Given the description of an element on the screen output the (x, y) to click on. 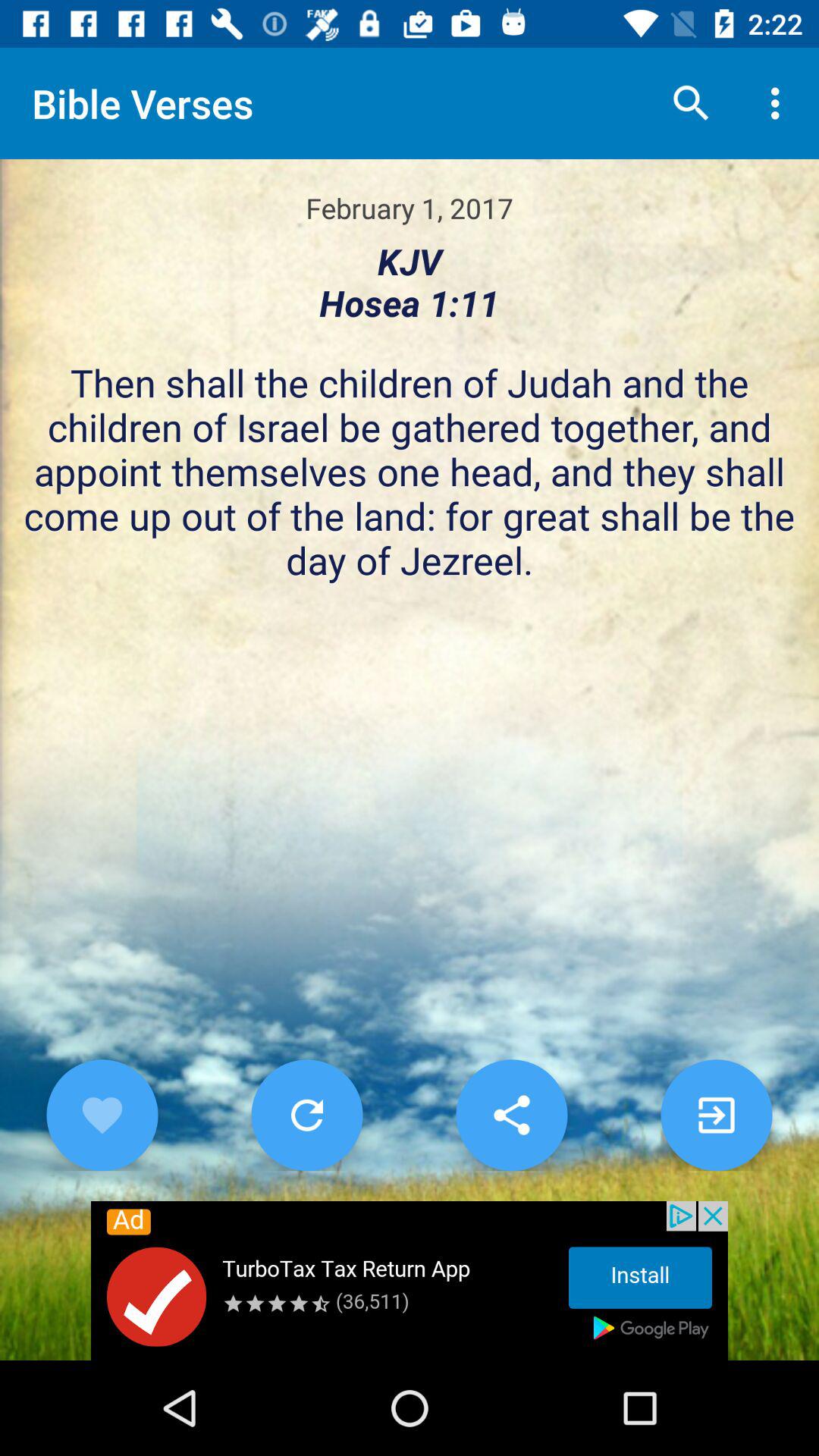
go to save (511, 1115)
